Given the description of an element on the screen output the (x, y) to click on. 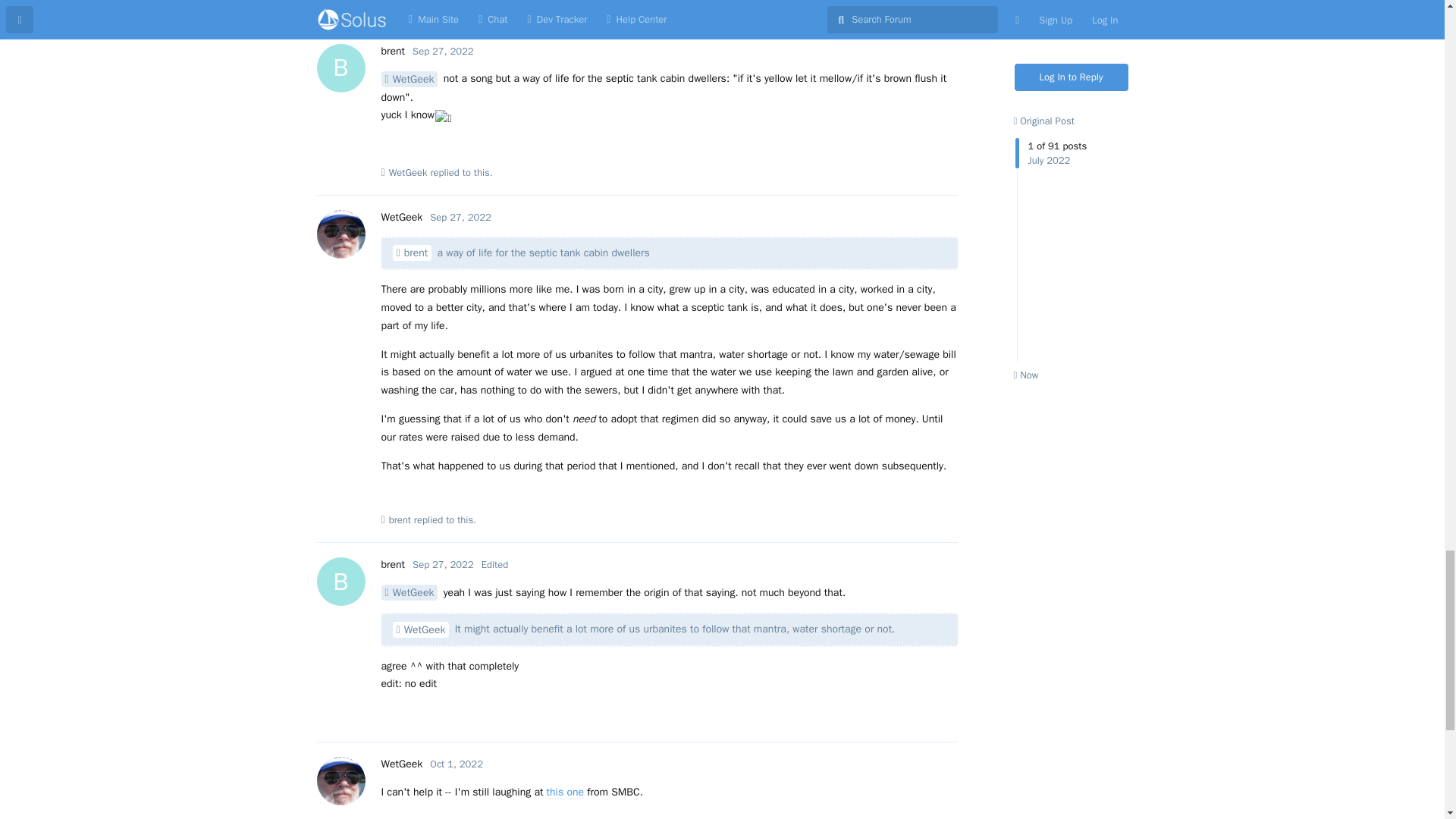
Tuesday, September 27, 2022 4:49 AM (443, 51)
